Given the description of an element on the screen output the (x, y) to click on. 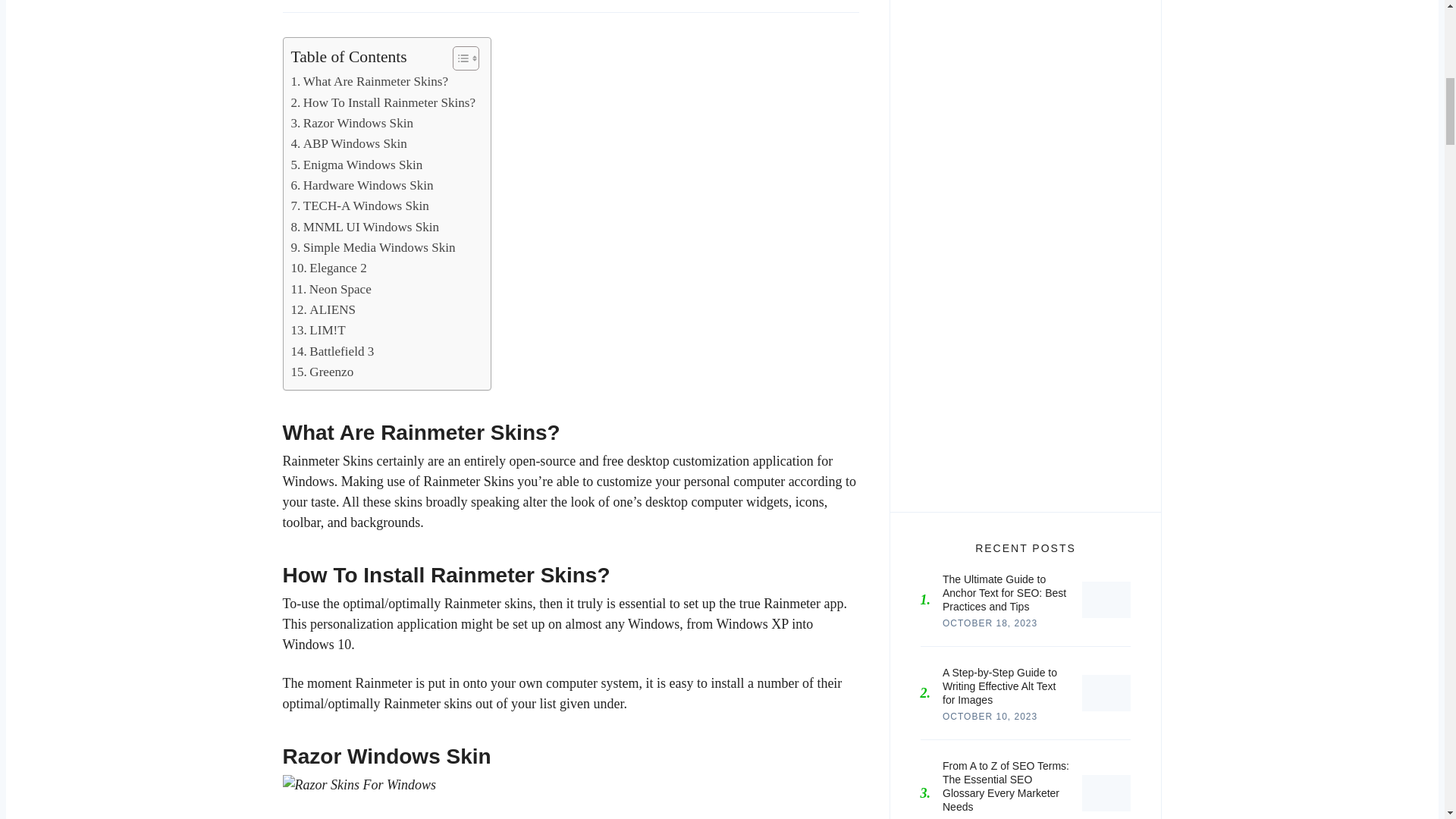
Razor Windows Skin (352, 123)
How To Install Rainmeter Skins? (383, 102)
Elegance 2 (328, 267)
Neon Space (331, 289)
Simple Media Windows Skin (373, 247)
Hardware Windows Skin (362, 185)
Elegance 2 (328, 267)
Battlefield 3 (332, 351)
How To Install Rainmeter Skins? (383, 102)
Greenzo (322, 371)
Neon Space (331, 289)
Battlefield 3 (332, 351)
ABP Windows Skin (349, 143)
Enigma Windows Skin (357, 164)
What Are Rainmeter Skins? (369, 81)
